Given the description of an element on the screen output the (x, y) to click on. 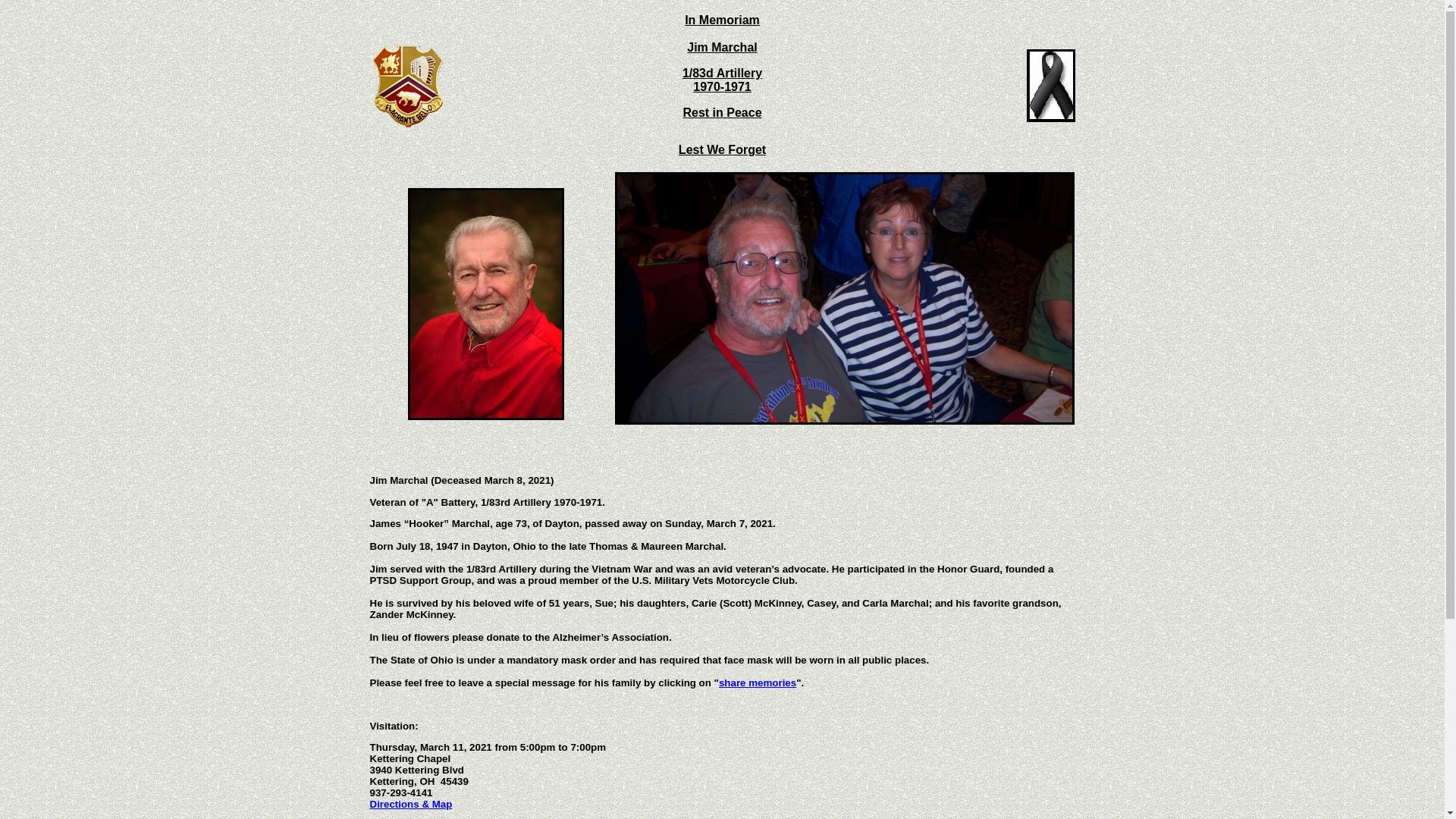
share memories Element type: text (757, 682)
Directions & Map Element type: text (411, 803)
